Given the description of an element on the screen output the (x, y) to click on. 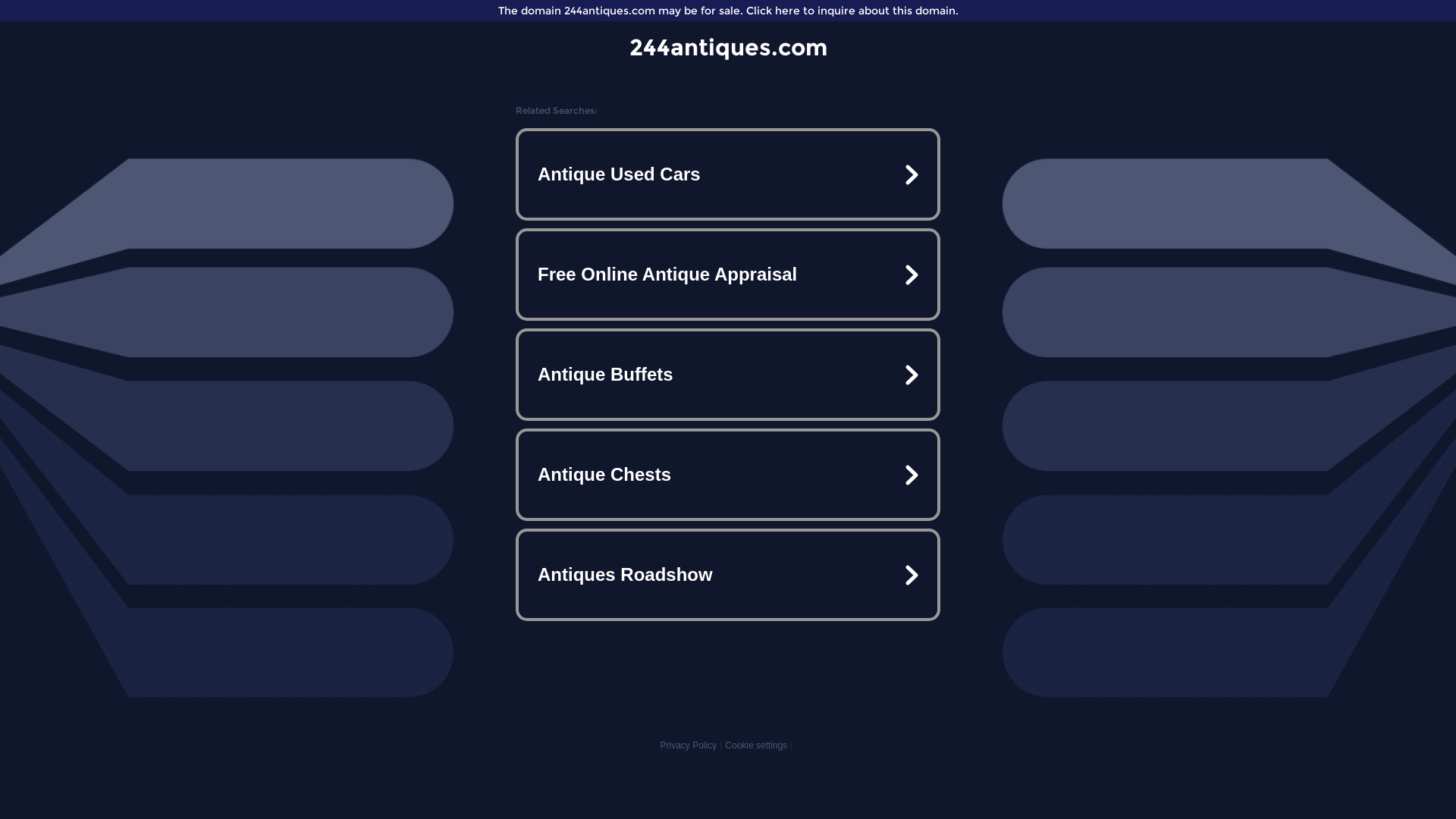
Antique Used Cars Element type: text (727, 174)
Cookie settings Element type: text (755, 745)
Antique Buffets Element type: text (727, 374)
Antiques Roadshow Element type: text (727, 574)
Free Online Antique Appraisal Element type: text (727, 274)
Privacy Policy Element type: text (687, 745)
244antiques.com Element type: text (728, 47)
Antique Chests Element type: text (727, 474)
